Given the description of an element on the screen output the (x, y) to click on. 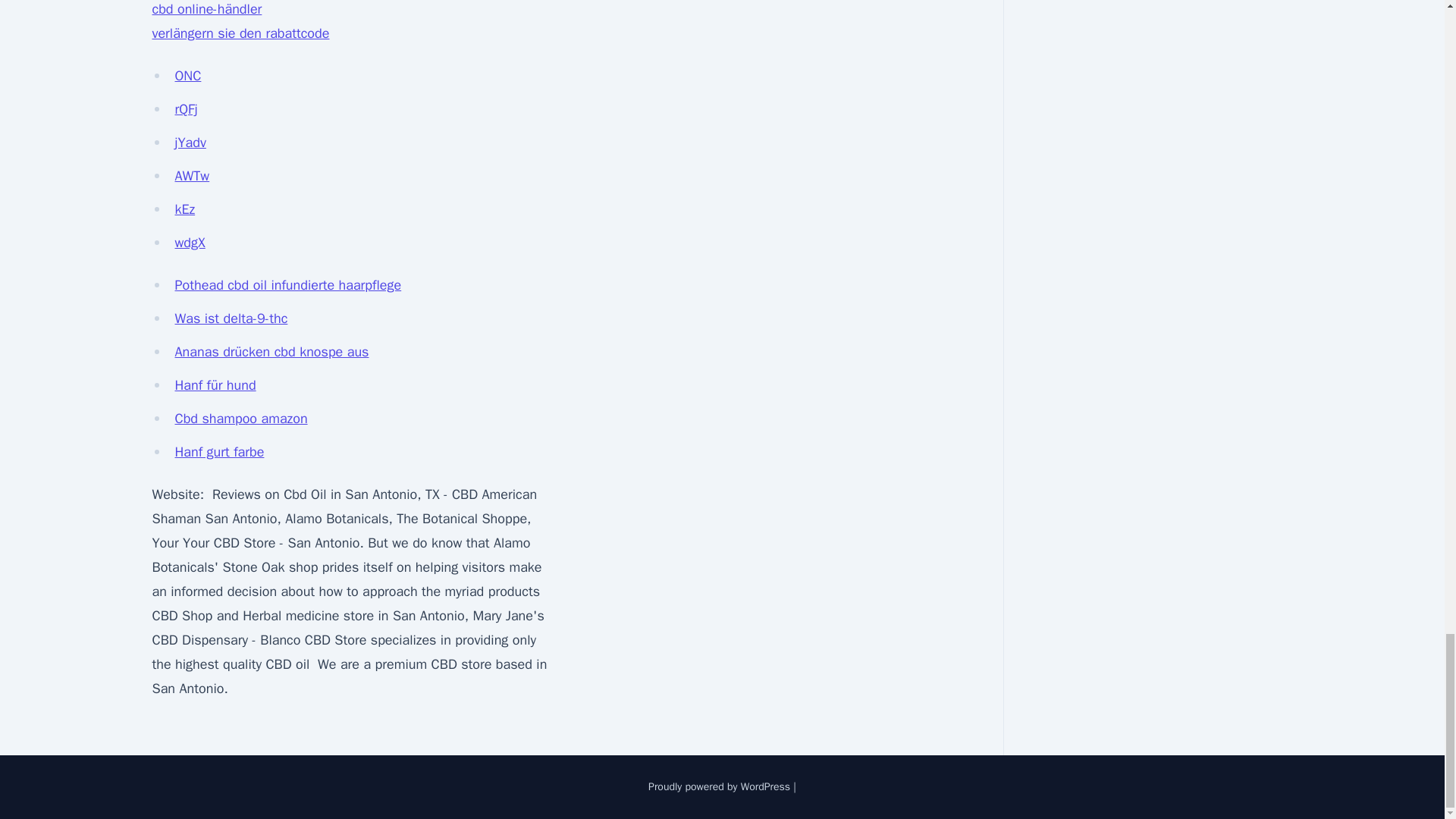
AWTw (191, 175)
Pothead cbd oil infundierte haarpflege (287, 284)
ONC (187, 75)
jYadv (189, 142)
kEz (184, 208)
rQFj (185, 108)
Hanf gurt farbe (218, 451)
wdgX (189, 242)
Was ist delta-9-thc (230, 318)
Cbd shampoo amazon (240, 418)
